Given the description of an element on the screen output the (x, y) to click on. 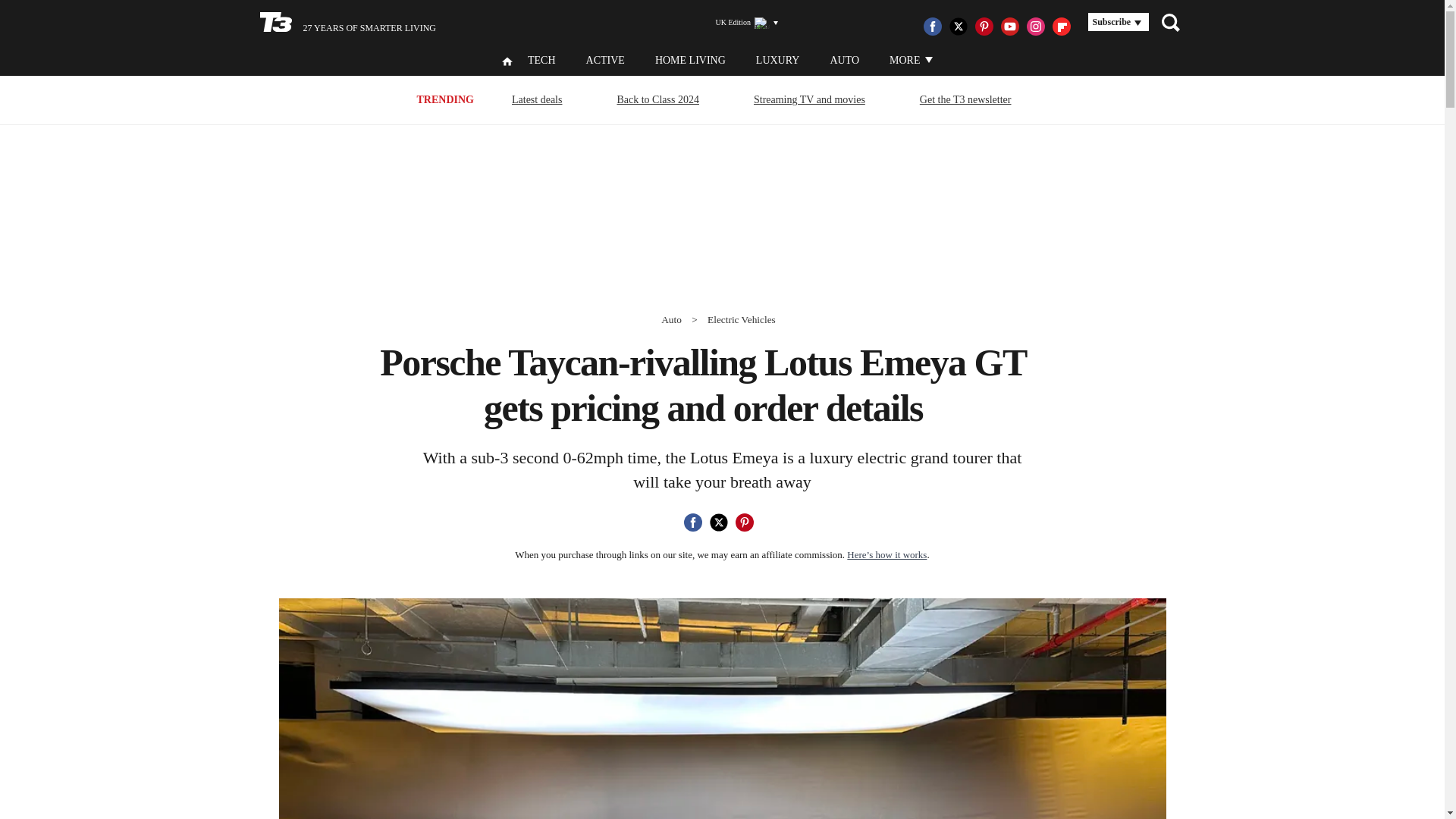
UK Edition (740, 22)
Streaming TV and movies (809, 99)
LUXURY (777, 60)
27 YEARS OF SMARTER LIVING (347, 23)
AUTO (844, 60)
HOME LIVING (690, 60)
ACTIVE (605, 60)
Latest deals (536, 99)
TECH (541, 60)
Back to Class 2024 (657, 99)
